Given the description of an element on the screen output the (x, y) to click on. 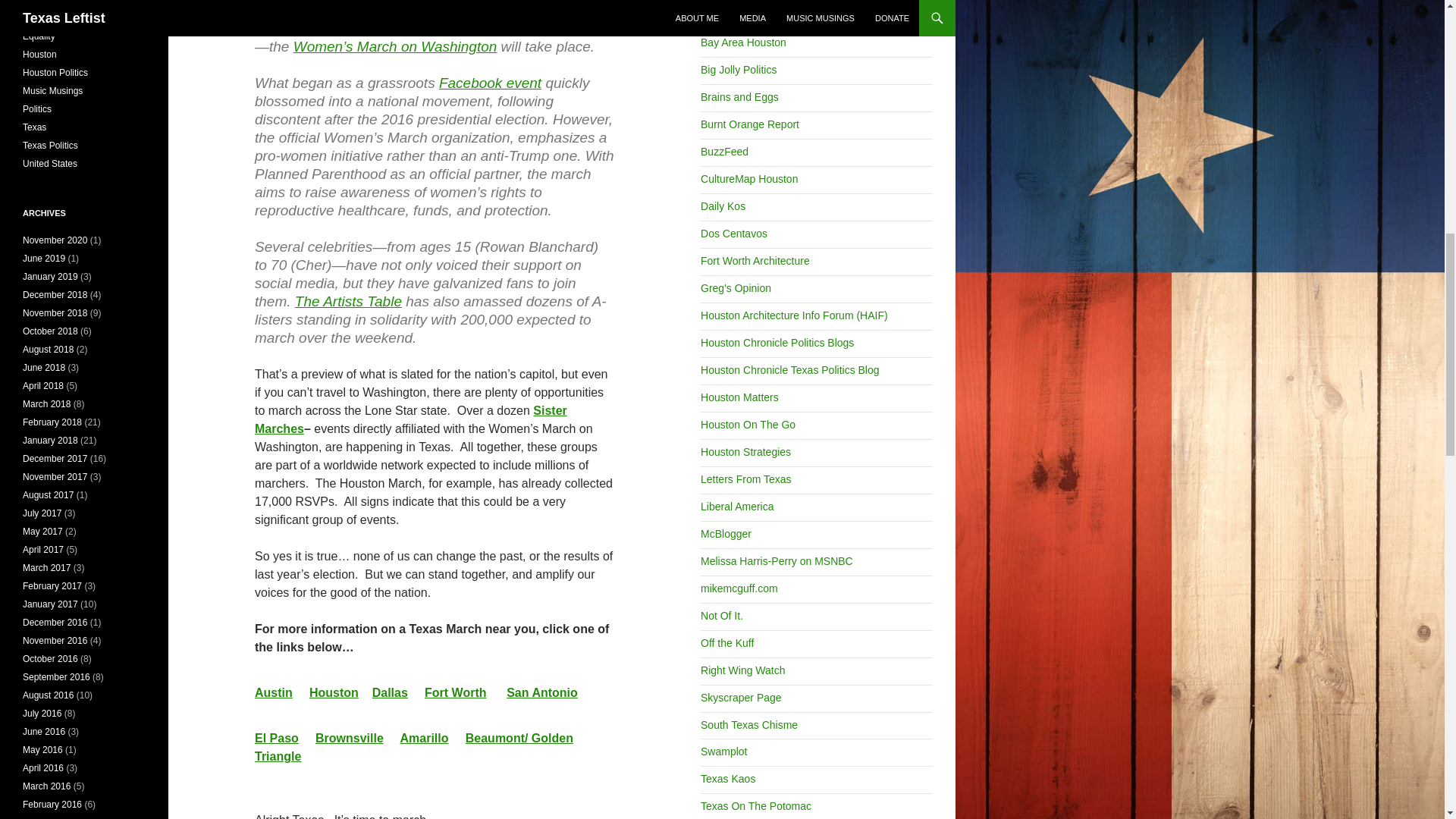
San Antonio (542, 692)
Fort Worth (455, 692)
Sister Marches (410, 419)
Our Eyes Are Upon Texas Politics (749, 123)
Houston (333, 692)
The Artists Table (348, 301)
Dallas (389, 692)
Austin (273, 692)
Brownsville (349, 738)
Facebook event (490, 82)
Amarillo (424, 738)
El Paso (276, 738)
